Given the description of an element on the screen output the (x, y) to click on. 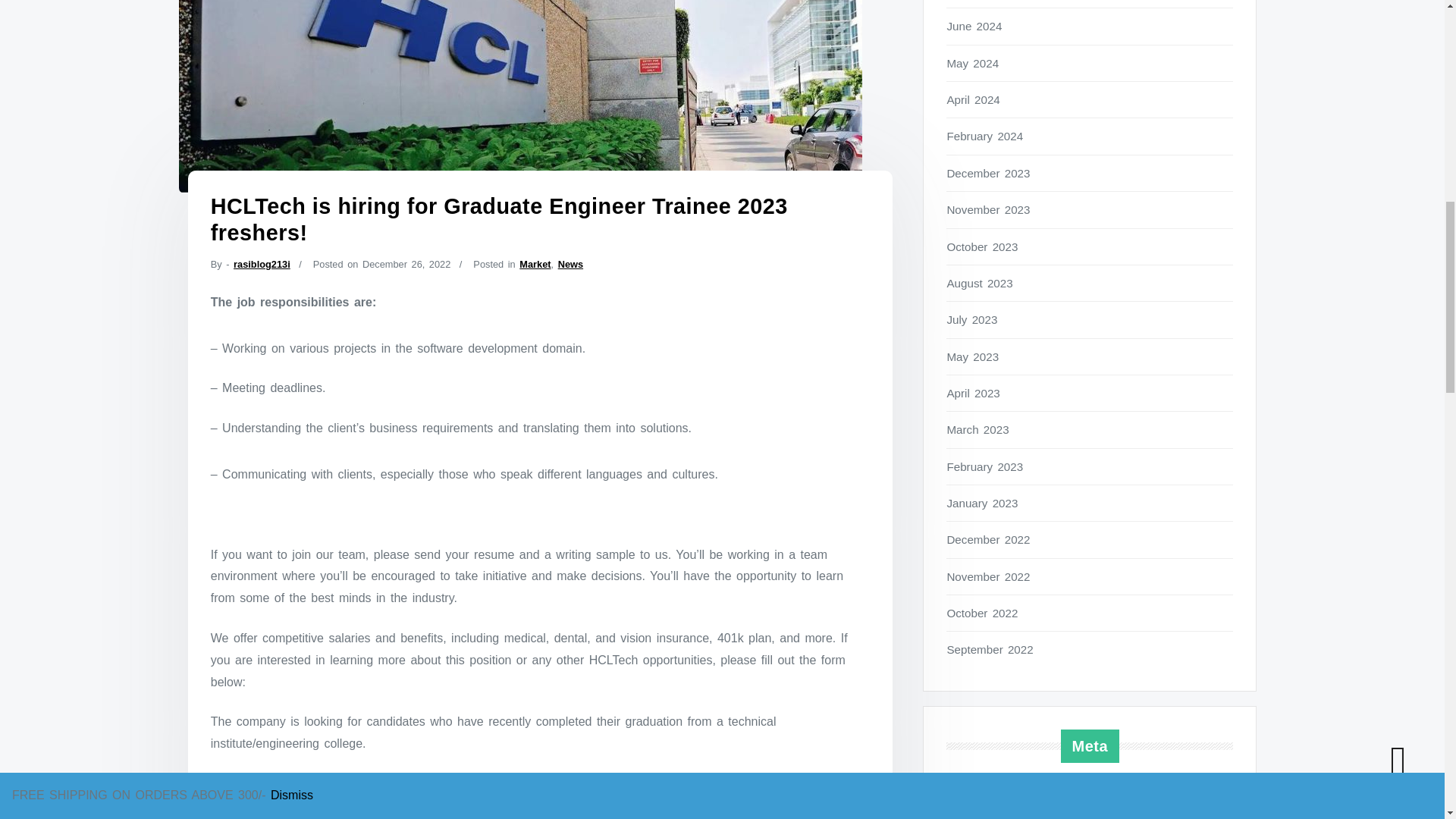
rasiblog213i (260, 264)
Market (534, 264)
News (570, 264)
